Given the description of an element on the screen output the (x, y) to click on. 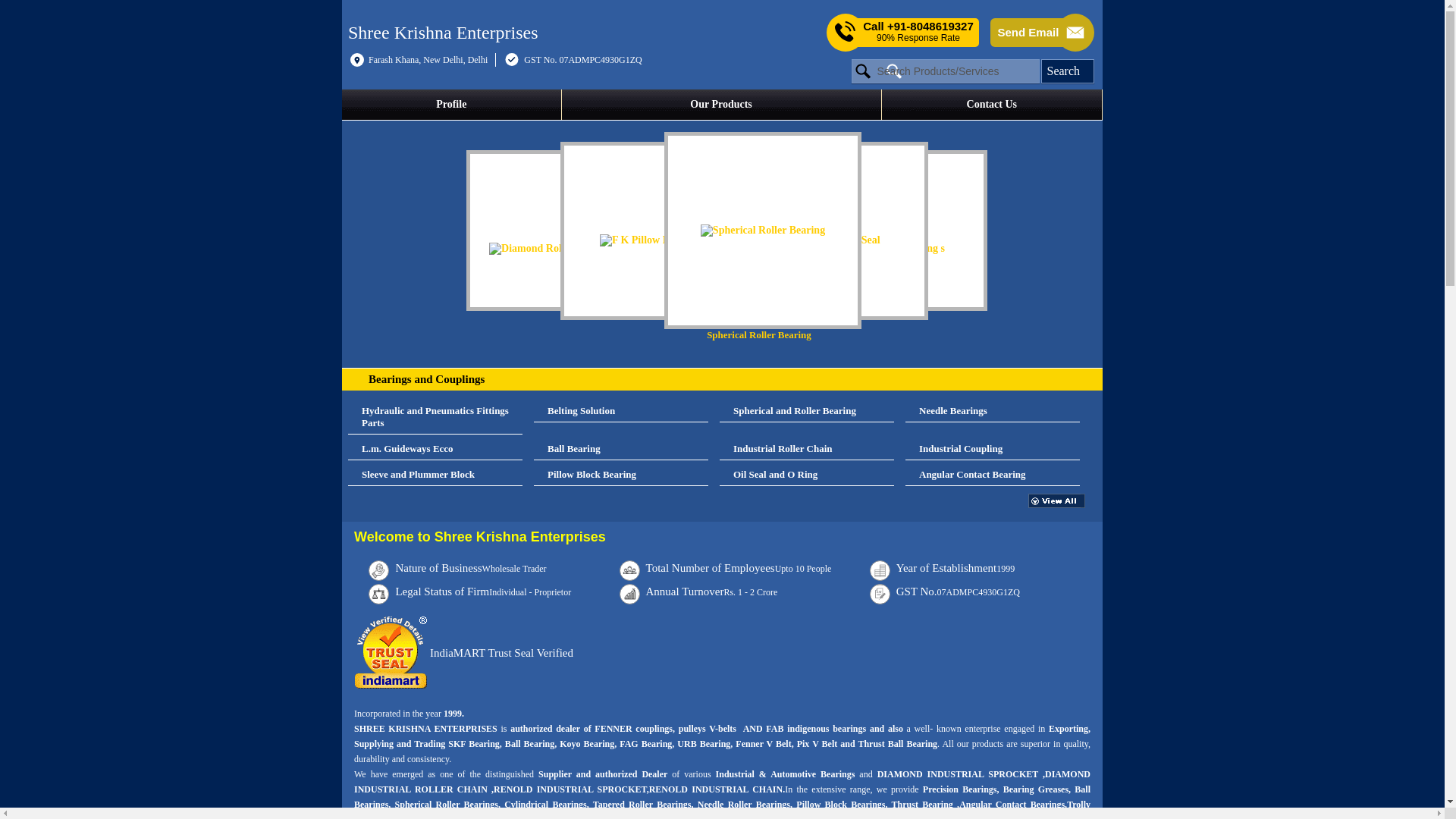
Contact Us (992, 104)
Sleeve and Plummer Block (434, 475)
Industrial Roller Chain (806, 449)
Send SMS Free (917, 32)
Ball Bearing (620, 449)
Industrial Coupling (992, 449)
Pillow Block Bearing (620, 475)
L.m. Guideways Ecco (434, 449)
Bearings and Couplings (426, 378)
Hydraulic and Pneumatics Fittings Parts (434, 417)
Oil Seal and O Ring (806, 475)
Spherical Roller Bearing (769, 236)
Our Products (721, 104)
Spherical and Roller Bearing (806, 411)
Belting Solution (620, 411)
